Given the description of an element on the screen output the (x, y) to click on. 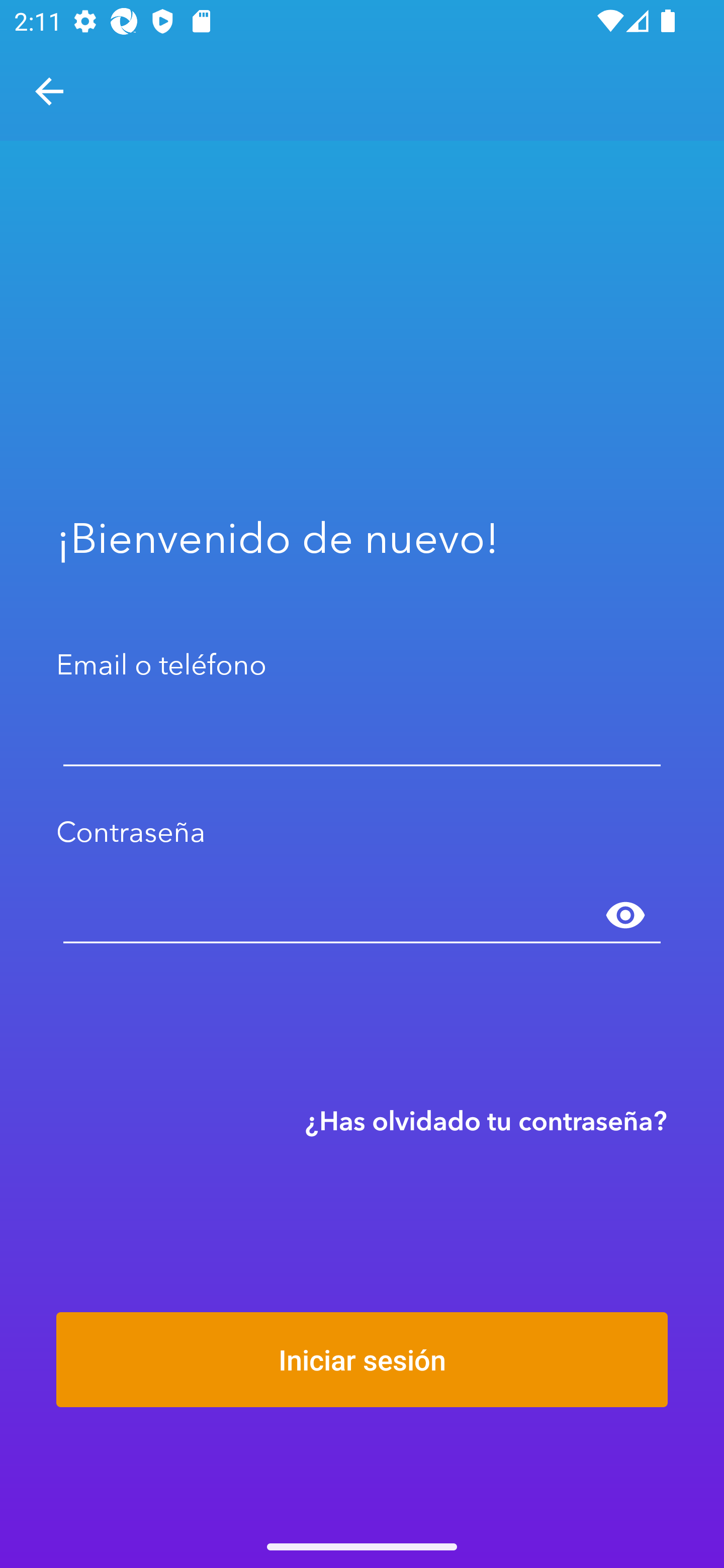
Navegar hacia arriba (49, 91)
Mostrar contraseña (625, 915)
¿Has olvidado tu contraseña? (486, 1119)
Iniciar sesión (361, 1359)
